Given the description of an element on the screen output the (x, y) to click on. 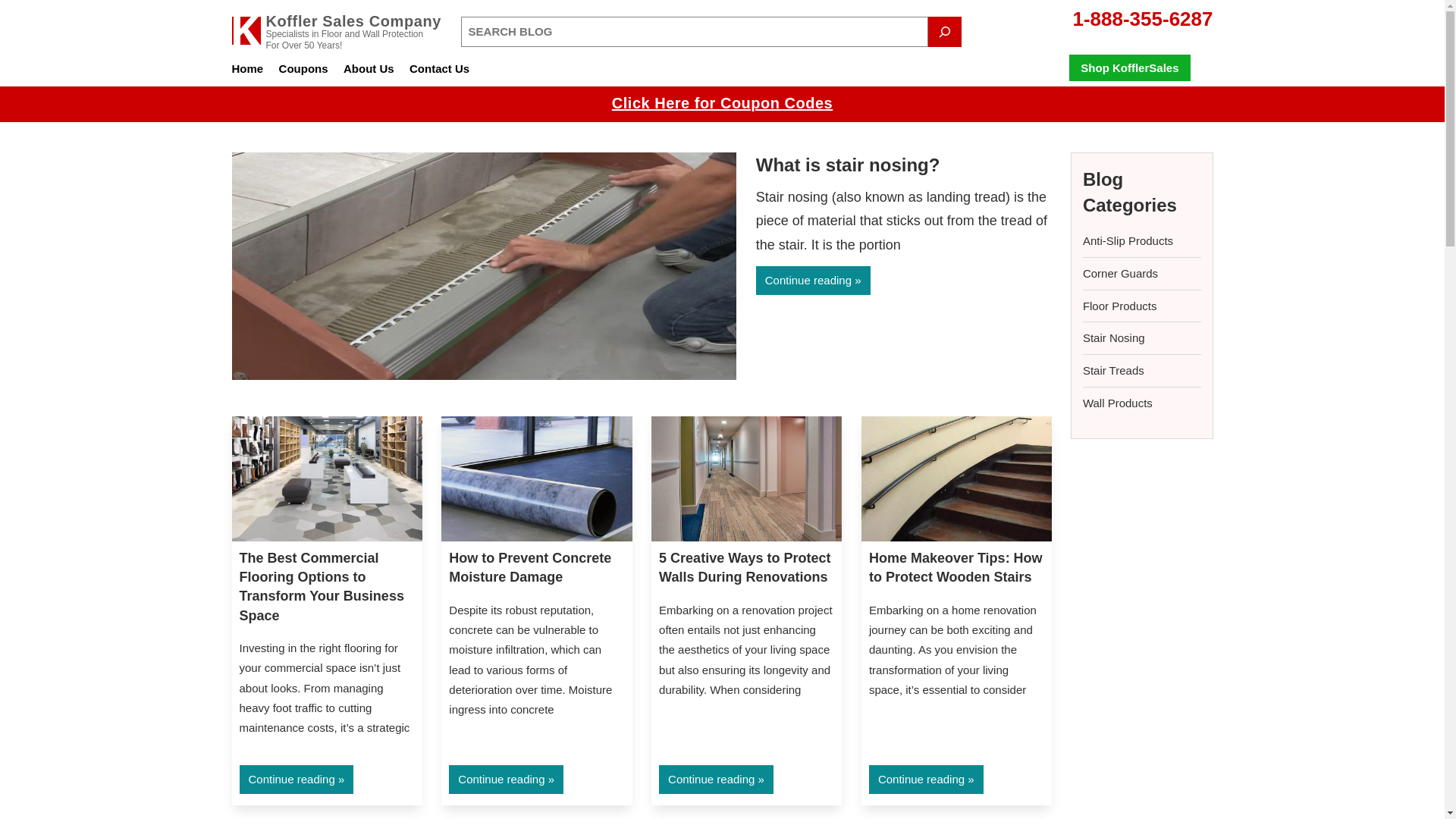
Koffler Sales Company (352, 21)
Continue reading (505, 778)
5 Creative Ways to Protect Walls During Renovations 12 (745, 478)
Home Makeover Tips: How to Protect Wooden Stairs (955, 567)
Home (247, 69)
How to Prevent Concrete Moisture Damage 11 (536, 478)
Continue reading (812, 280)
How to Prevent Concrete Moisture Damage (529, 567)
Continue reading (296, 778)
Click Here for Coupon Codes (721, 103)
What is stair nosing? (847, 164)
Continue reading (716, 778)
Contact Us (438, 69)
